Given the description of an element on the screen output the (x, y) to click on. 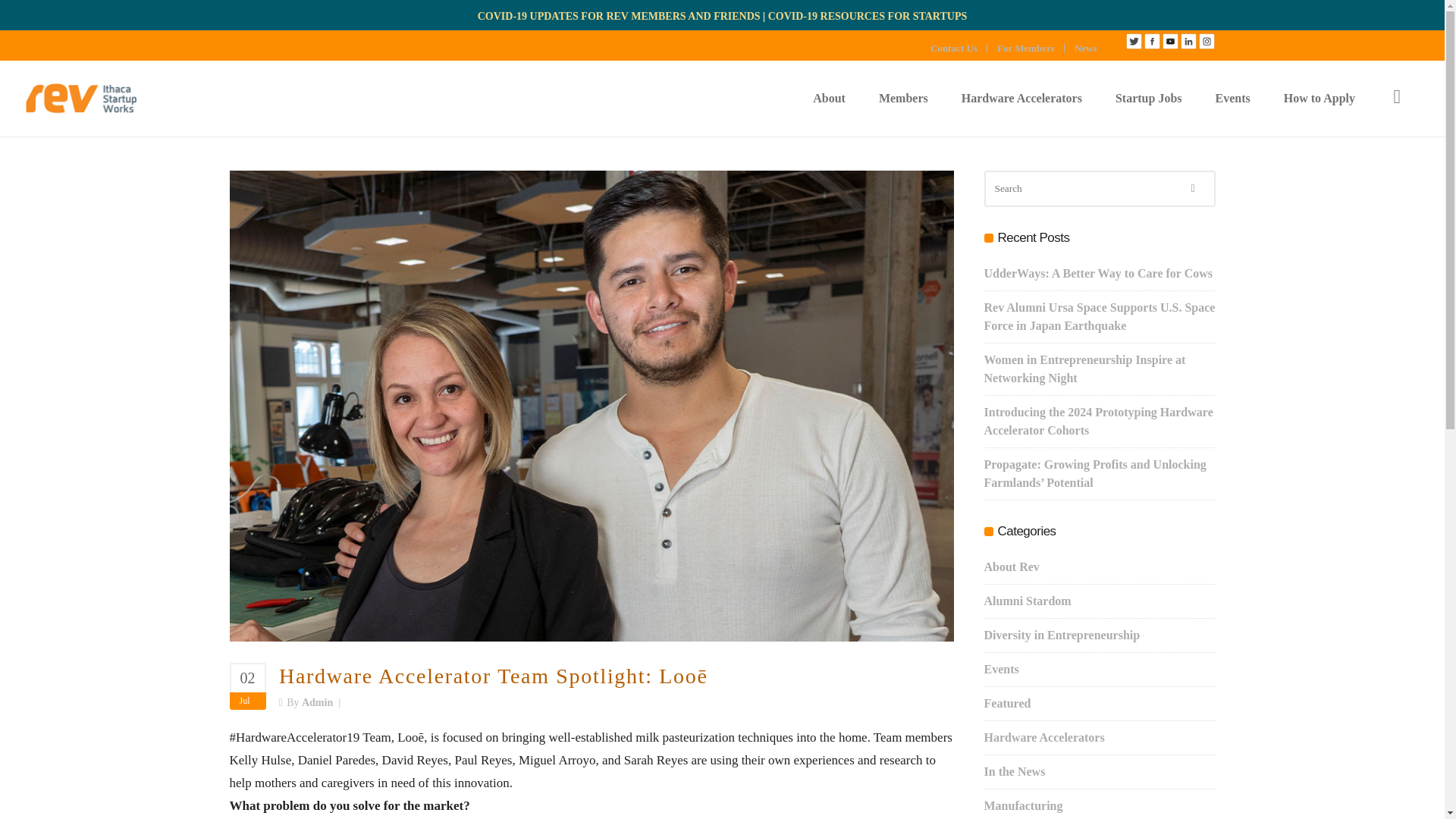
Hardware Accelerators (1021, 98)
COVID-19 UPDATES FOR REV MEMBERS AND FRIENDS (618, 16)
Members (903, 98)
For Members (1030, 48)
U (976, 414)
News (1090, 48)
Contact Us (958, 48)
Startup Jobs (1148, 98)
COVID-19 RESOURCES FOR STARTUPS (868, 16)
How to Apply (1319, 98)
